Given the description of an element on the screen output the (x, y) to click on. 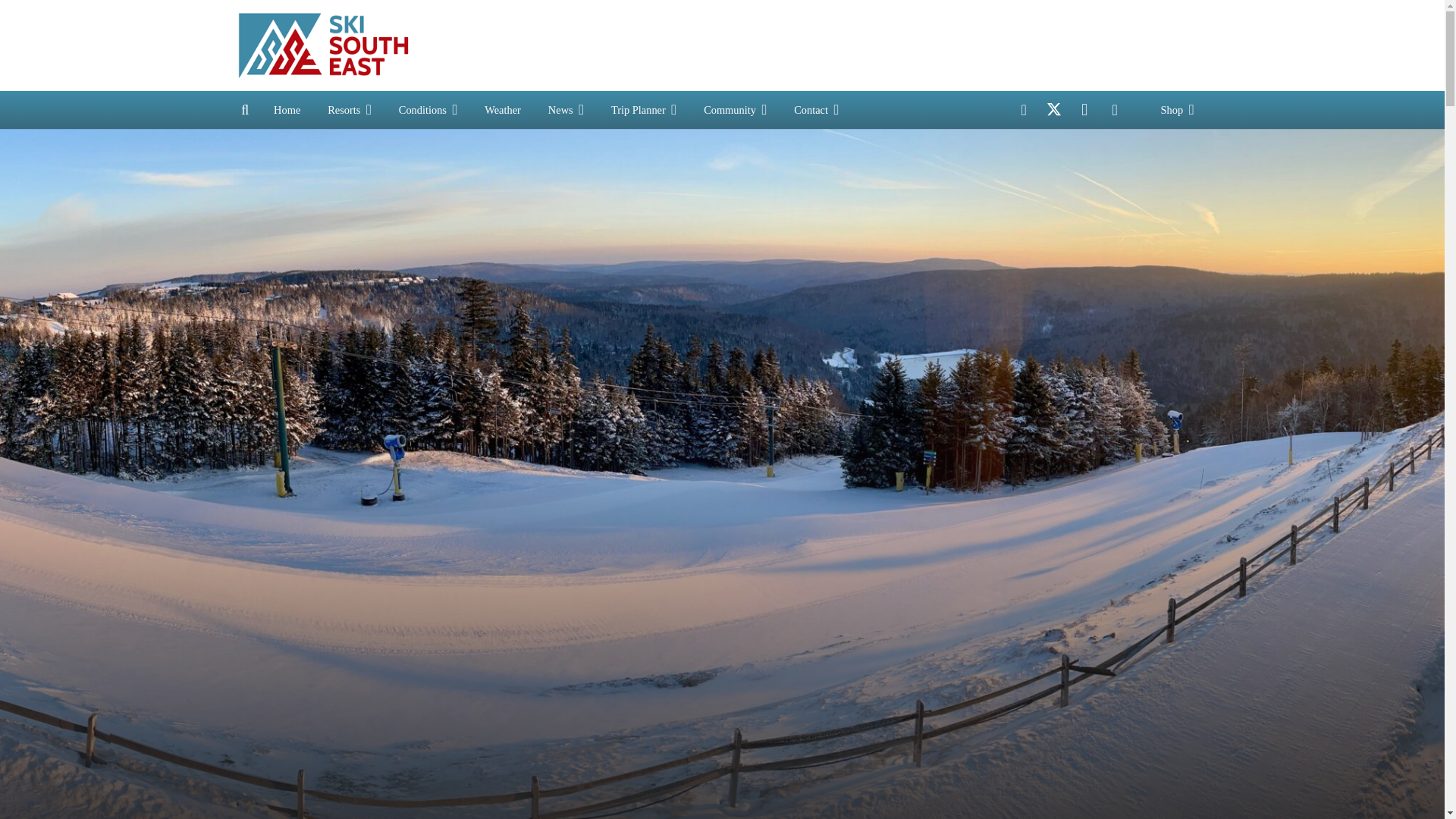
Resorts (349, 109)
Conditions (428, 109)
Home (287, 109)
Instagram (1083, 110)
Discord (1114, 110)
Twitter (1053, 110)
Facebook (1024, 110)
